Given the description of an element on the screen output the (x, y) to click on. 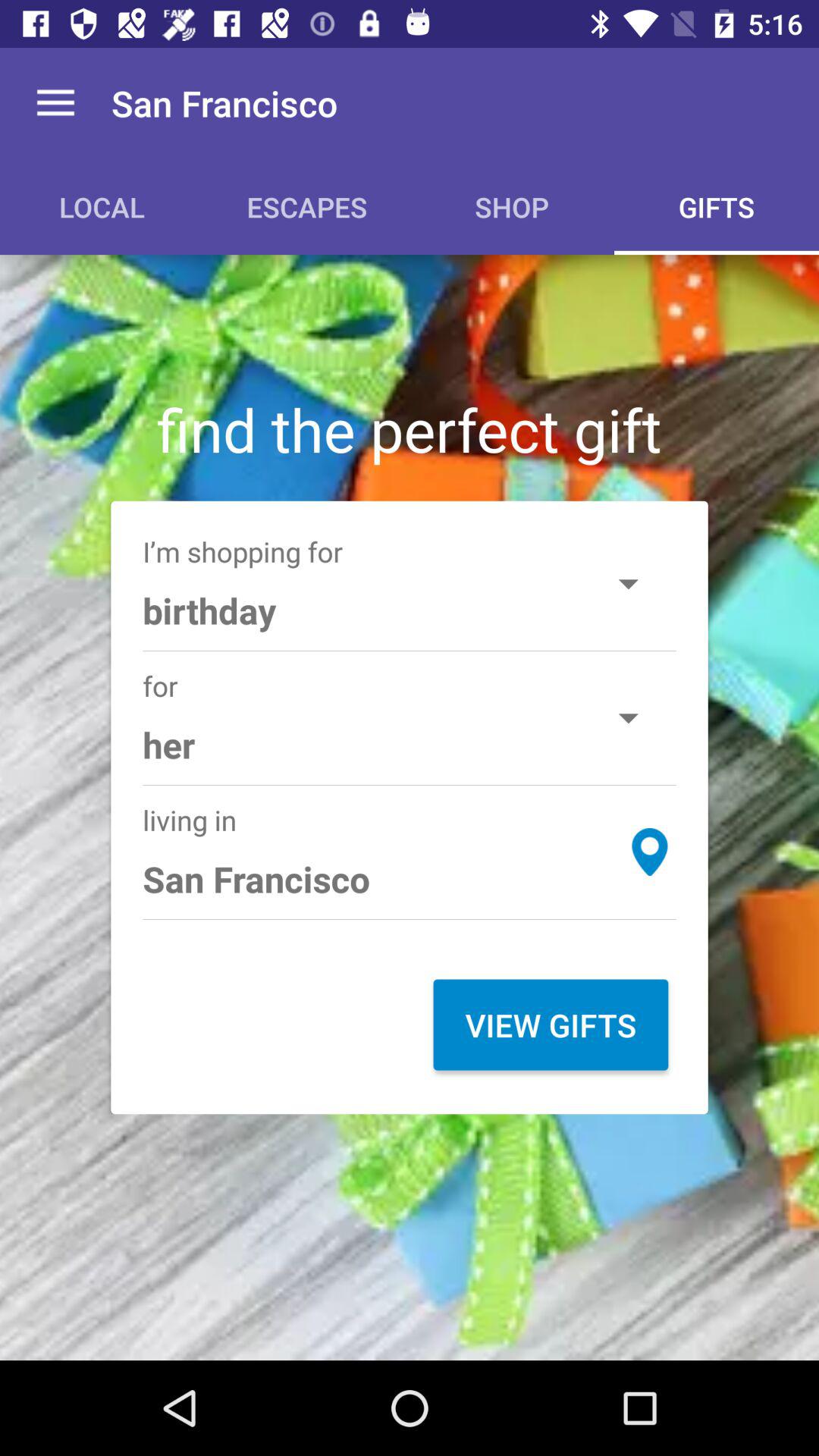
go to the text in the first line of the page (224, 102)
